Given the description of an element on the screen output the (x, y) to click on. 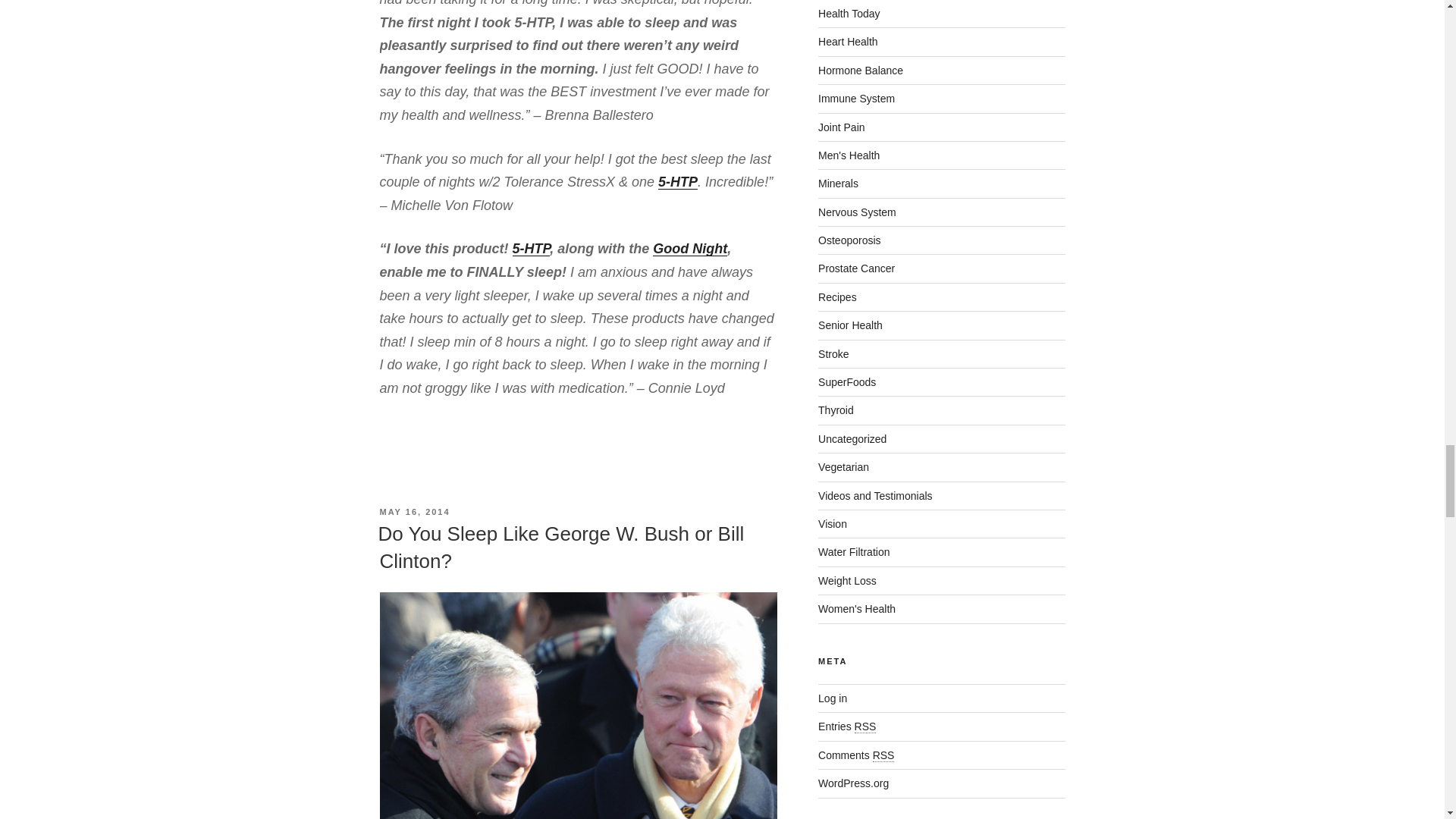
Do You Sleep Like George W. Bush or Bill Clinton? (560, 547)
MAY 16, 2014 (413, 511)
5-HTP (677, 181)
5-HTP (531, 248)
Really Simple Syndication (883, 755)
Good Night (689, 248)
Really Simple Syndication (865, 726)
